Given the description of an element on the screen output the (x, y) to click on. 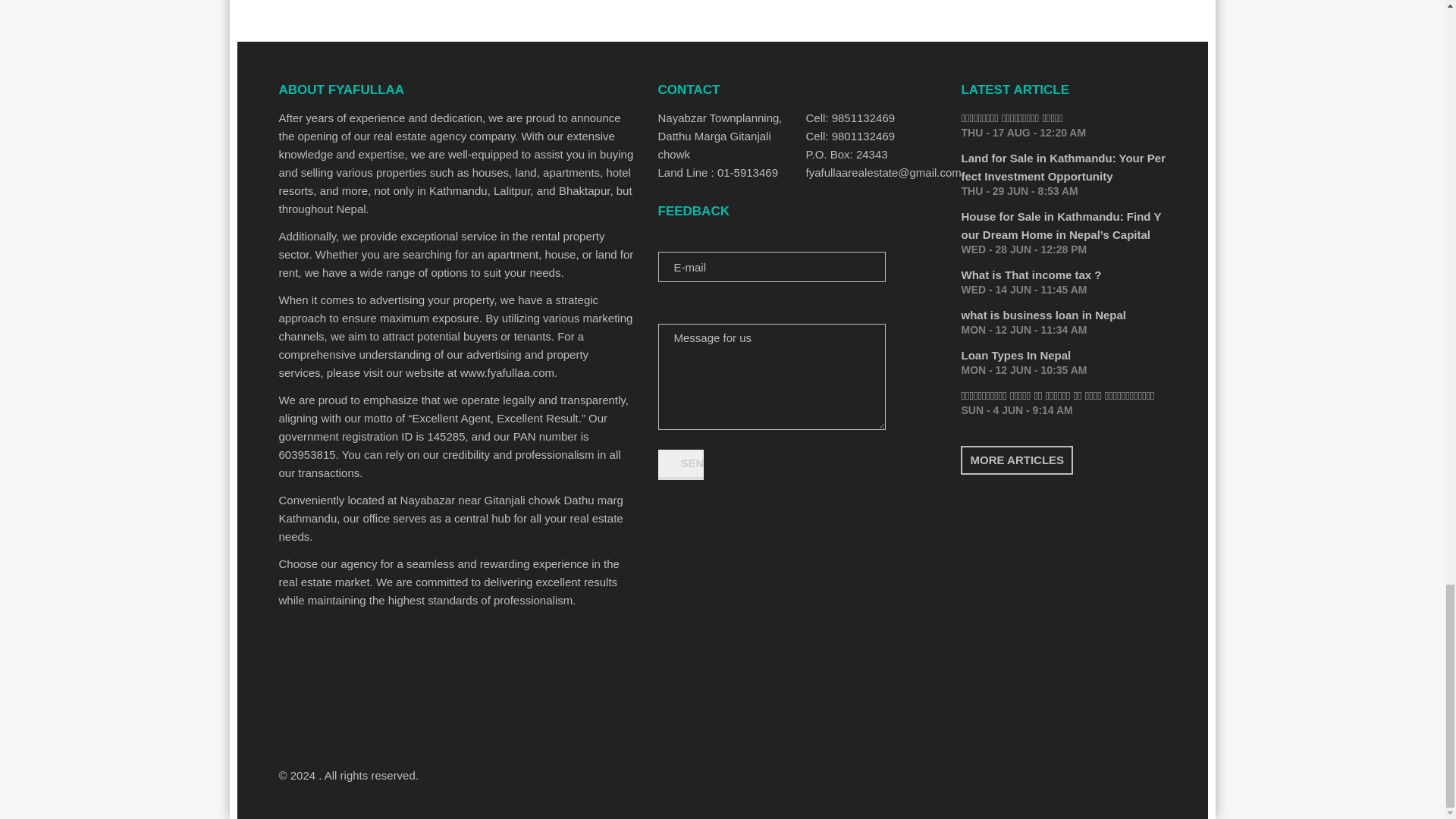
Send (680, 464)
